Given the description of an element on the screen output the (x, y) to click on. 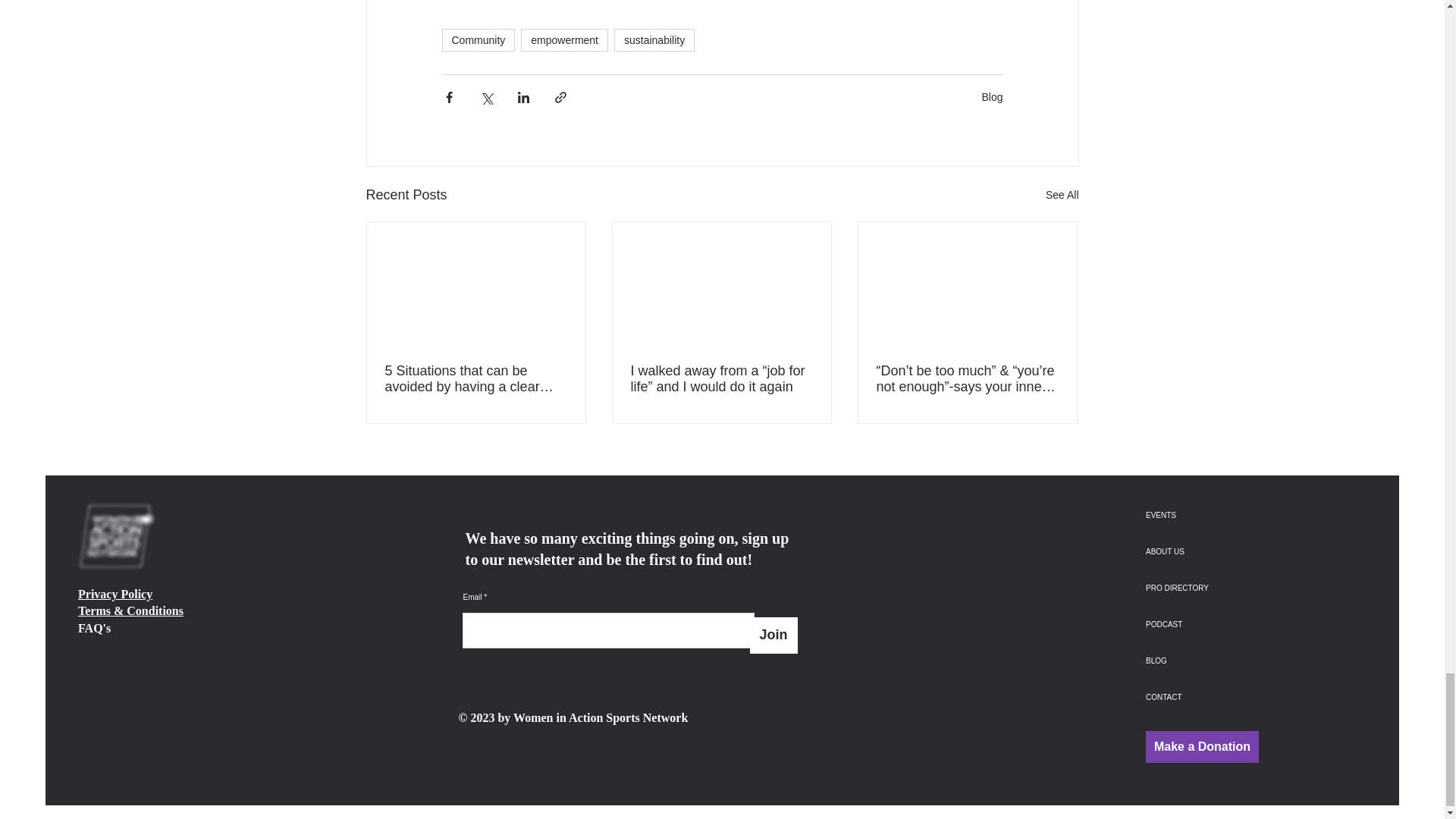
Community (478, 39)
empowerment (564, 39)
See All (1061, 195)
sustainability (654, 39)
5 Situations that can be avoided by having a clear vision (476, 378)
Blog (992, 96)
